Given the description of an element on the screen output the (x, y) to click on. 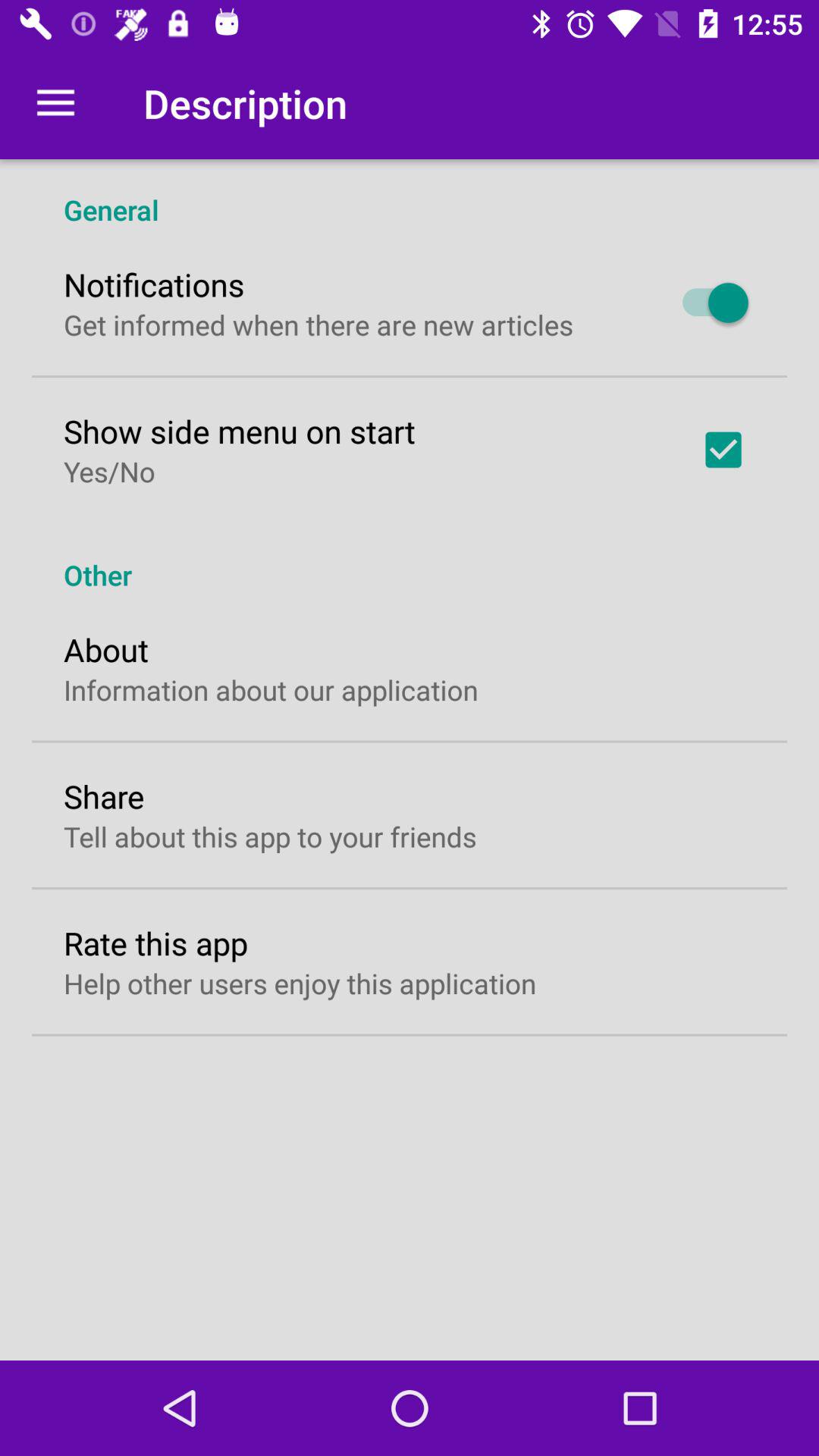
click the icon below share icon (269, 836)
